Given the description of an element on the screen output the (x, y) to click on. 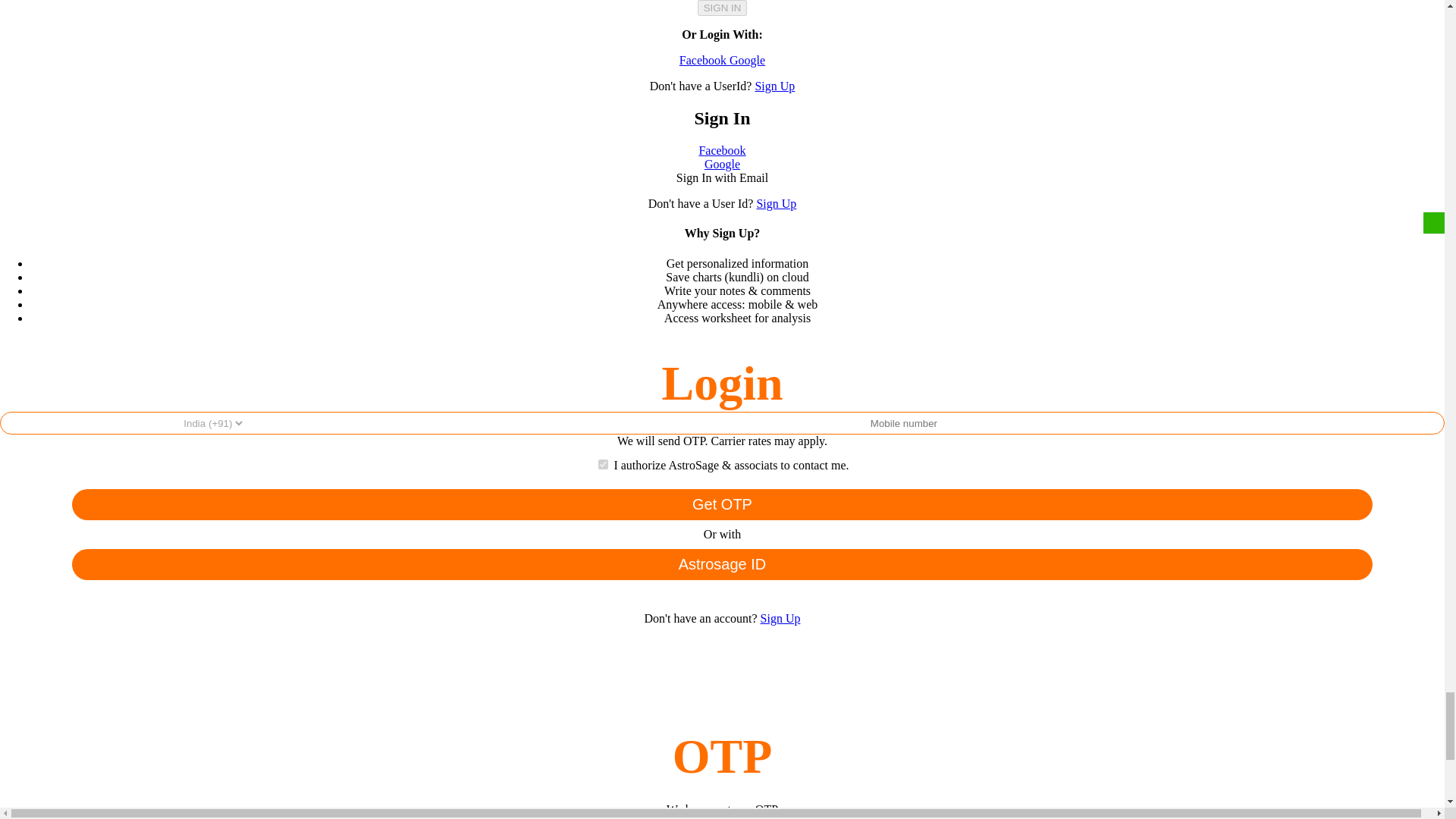
on (603, 464)
